Given the description of an element on the screen output the (x, y) to click on. 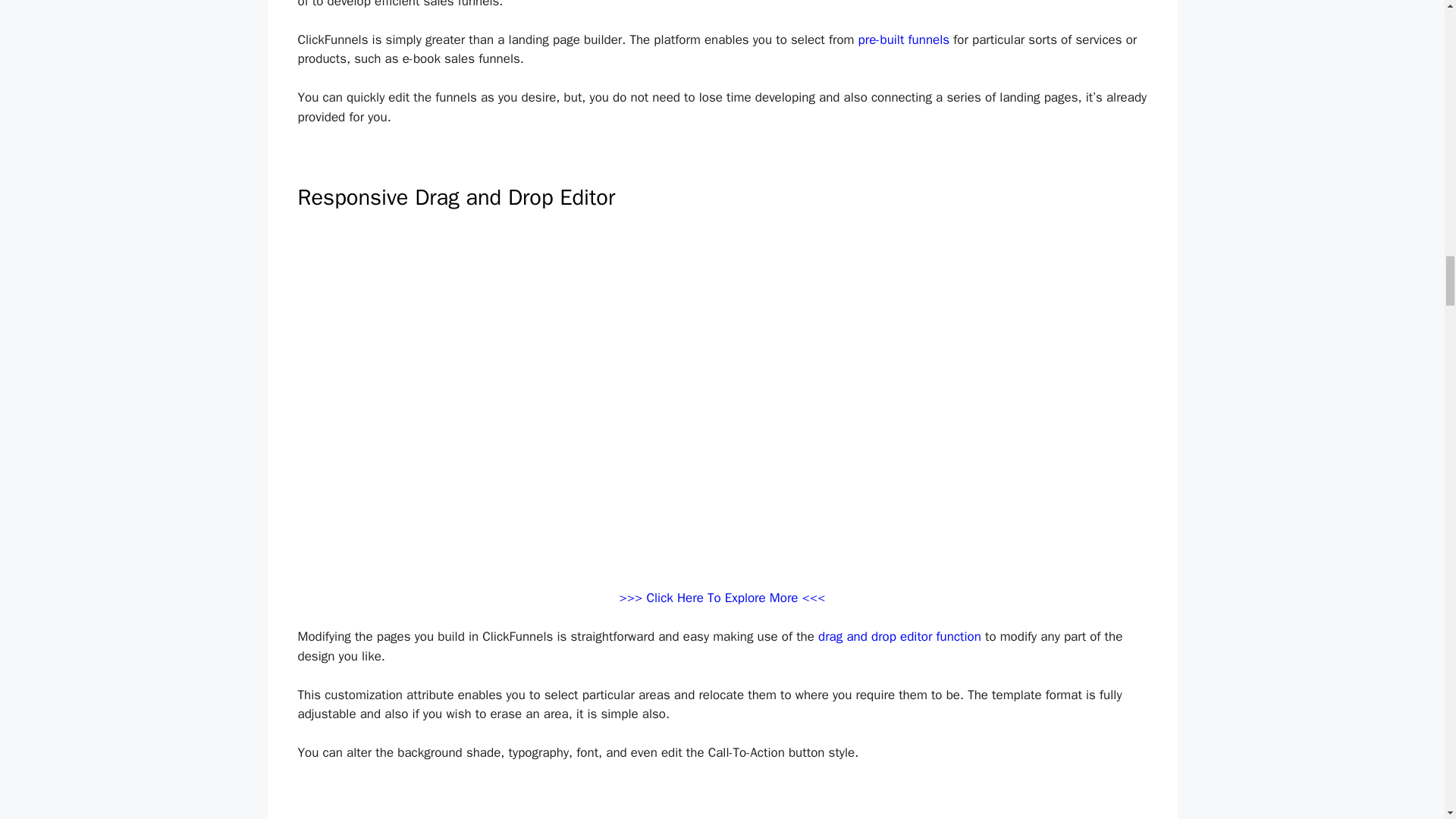
pre-built funnels (904, 39)
drag and drop editor function (899, 636)
